Given the description of an element on the screen output the (x, y) to click on. 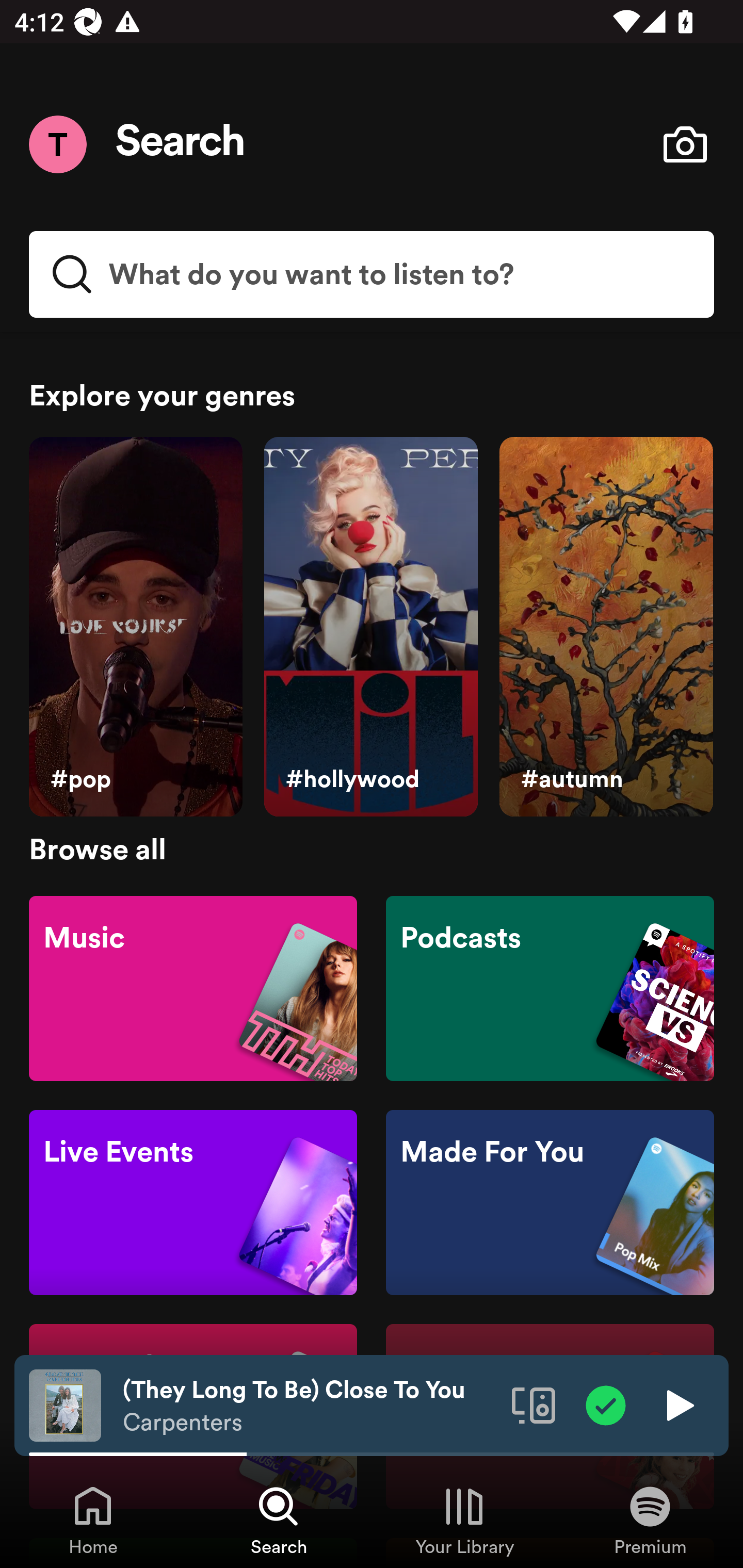
Menu (57, 144)
Open camera (685, 145)
Search (180, 144)
#pop (135, 626)
#hollywood (370, 626)
#autumn (606, 626)
Music (192, 987)
Podcasts (549, 987)
Live Events (192, 1202)
Made For You (549, 1202)
(They Long To Be) Close To You Carpenters (309, 1405)
The cover art of the currently playing track (64, 1404)
Connect to a device. Opens the devices menu (533, 1404)
Item added (605, 1404)
Play (677, 1404)
Home, Tab 1 of 4 Home Home (92, 1519)
Search, Tab 2 of 4 Search Search (278, 1519)
Your Library, Tab 3 of 4 Your Library Your Library (464, 1519)
Premium, Tab 4 of 4 Premium Premium (650, 1519)
